Given the description of an element on the screen output the (x, y) to click on. 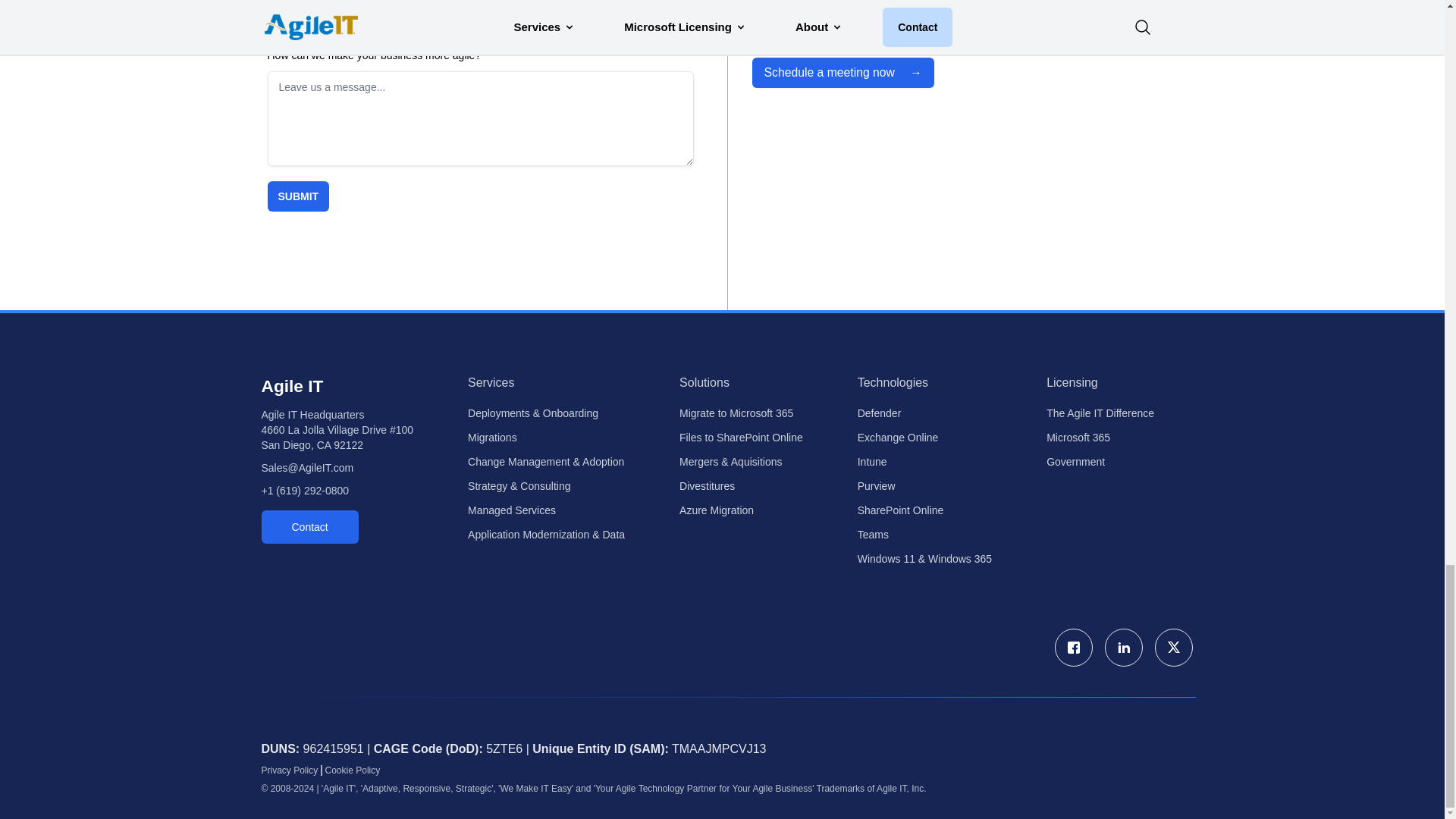
SUBMIT (297, 195)
